Given the description of an element on the screen output the (x, y) to click on. 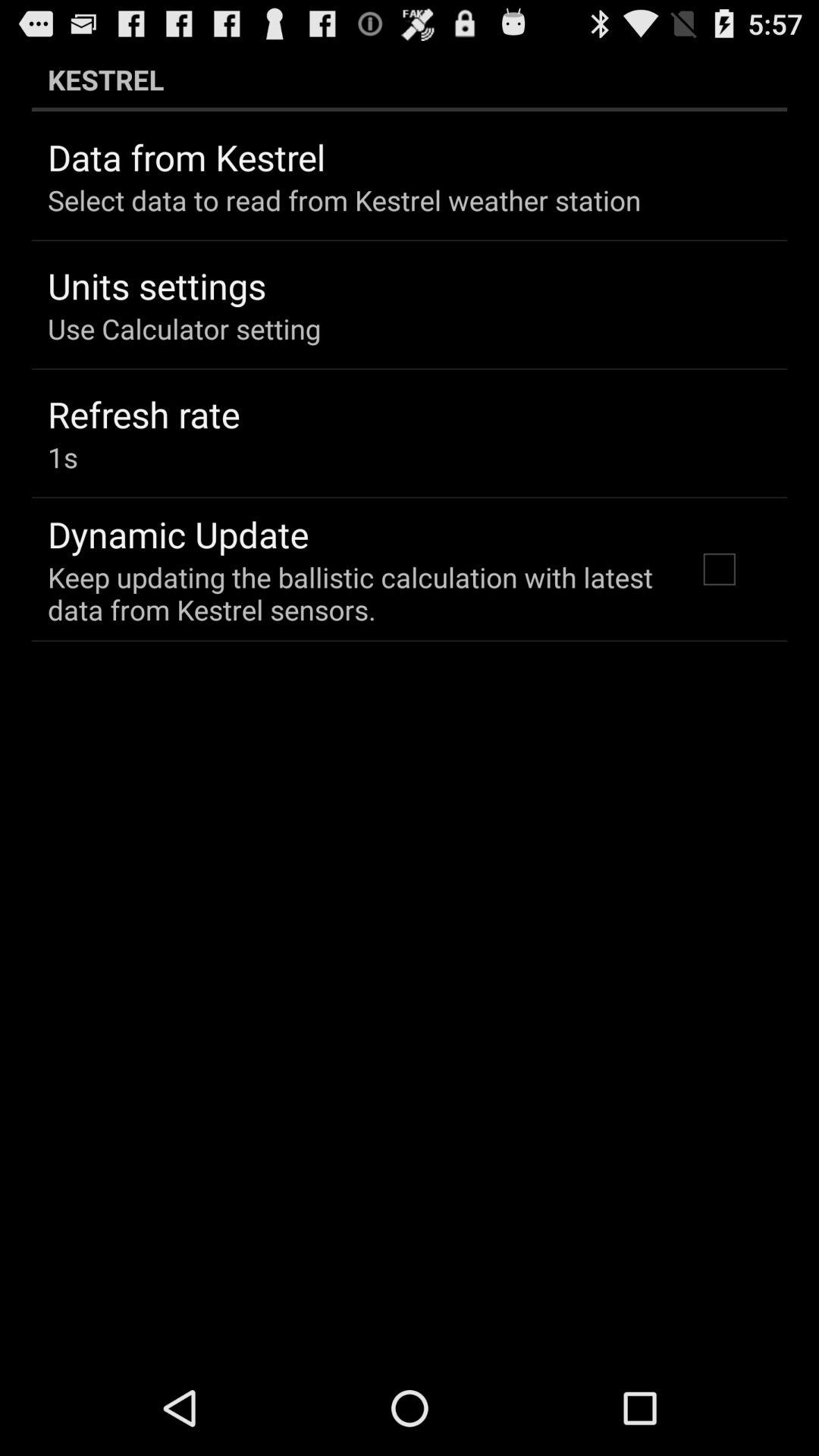
launch the icon above the keep updating the (177, 534)
